Given the description of an element on the screen output the (x, y) to click on. 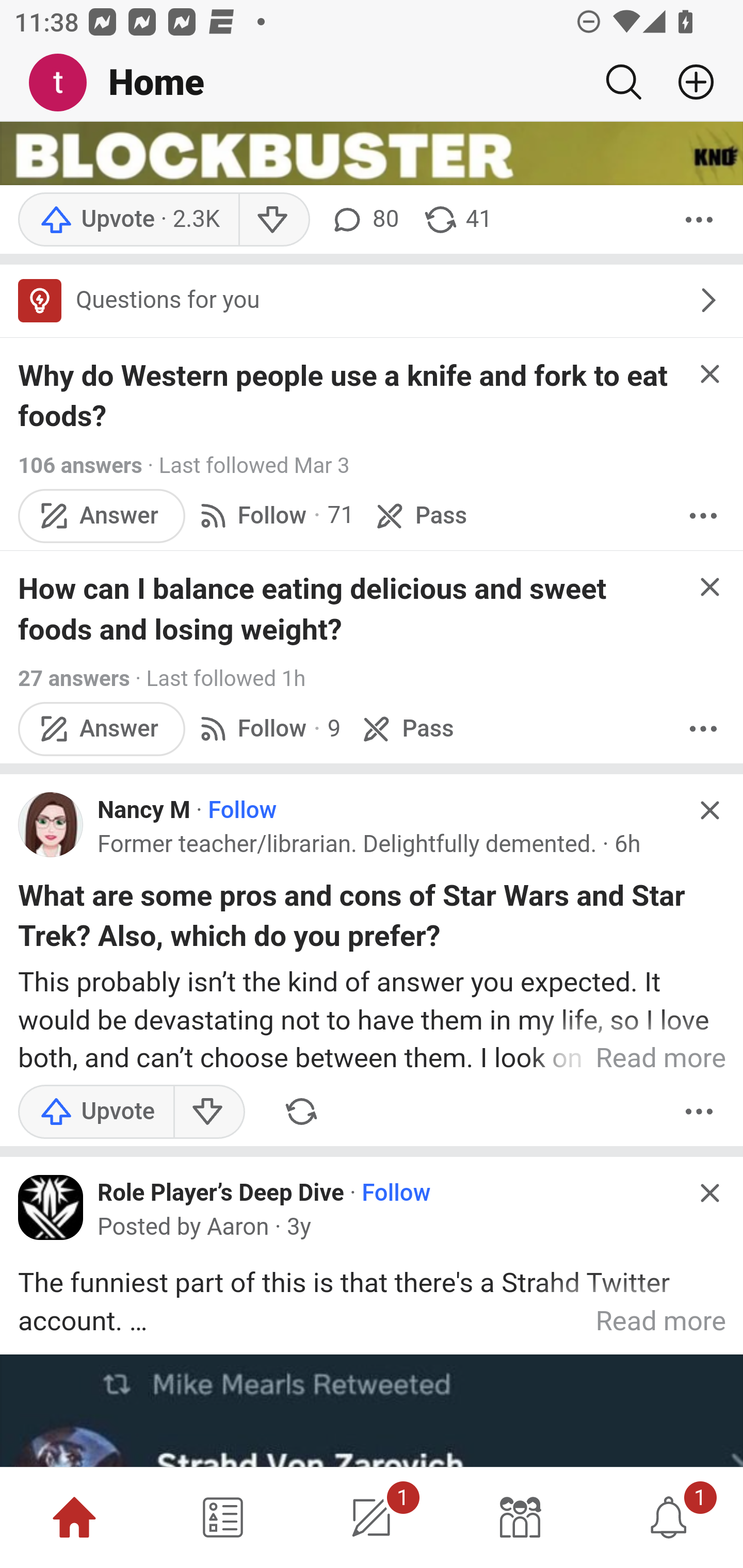
Me (64, 83)
Search (623, 82)
Add (688, 82)
Upvote (127, 219)
Downvote (273, 219)
80 comments (363, 219)
41 shares (457, 219)
More (699, 219)
Questions for you (371, 300)
Hide (709, 374)
106 answers 106  answers (79, 465)
Answer (101, 515)
Follow · 71 (274, 515)
Pass (419, 515)
More (703, 515)
Hide (709, 587)
27 answers 27  answers (73, 678)
Answer (101, 728)
Follow · 9 (267, 728)
Pass (405, 728)
More (703, 728)
Hide (709, 809)
Profile photo for Nancy M (50, 824)
Nancy M (144, 811)
Follow (242, 811)
Upvote (95, 1111)
Downvote (208, 1111)
Share (300, 1111)
More (699, 1111)
Hide (709, 1192)
Icon for Role Player’s Deep Dive (50, 1207)
Role Player’s Deep Dive (220, 1193)
Follow (396, 1194)
1 (371, 1517)
1 (668, 1517)
